Given the description of an element on the screen output the (x, y) to click on. 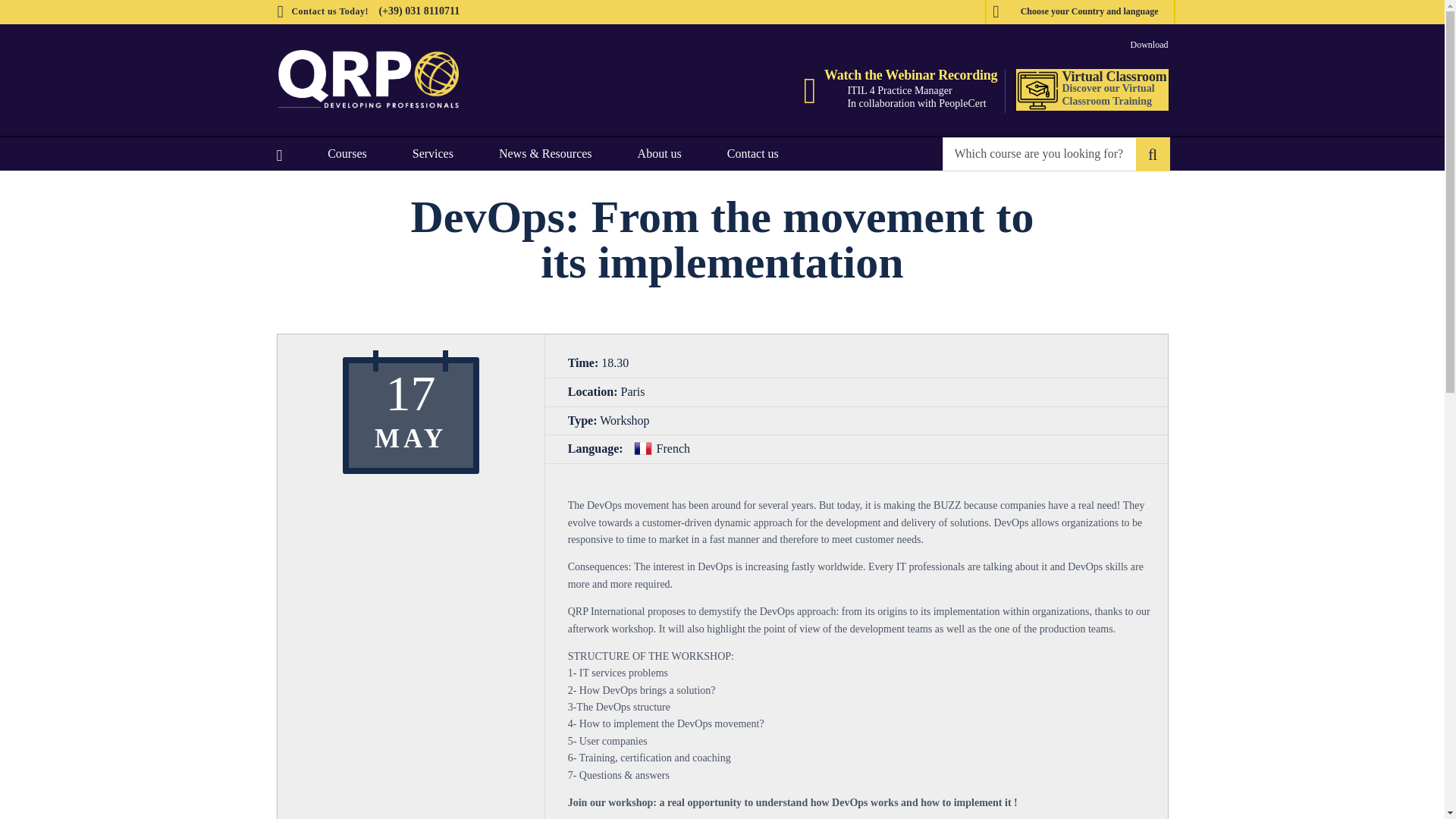
Courses (347, 153)
Download (1148, 44)
